Given the description of an element on the screen output the (x, y) to click on. 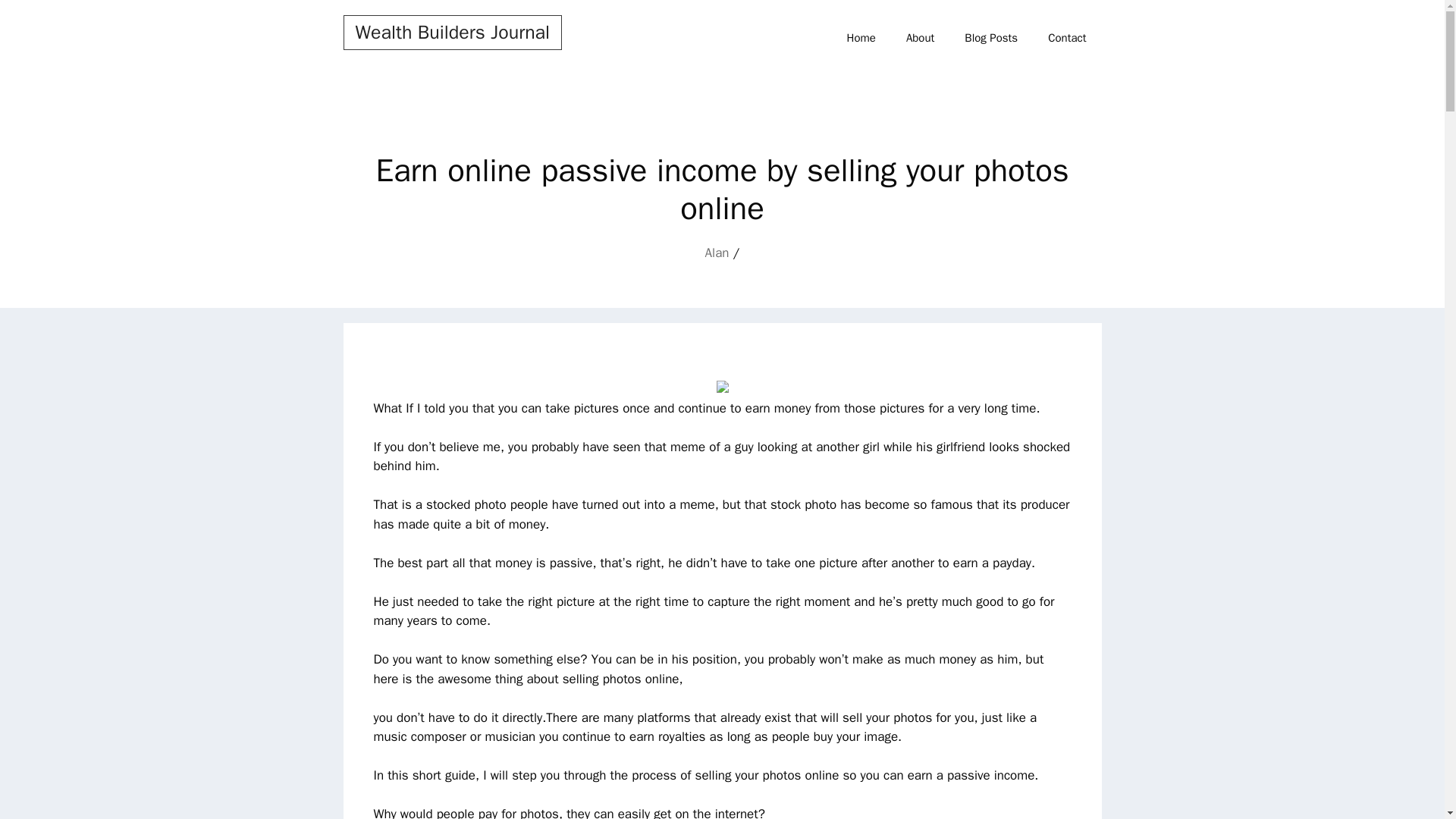
Blog Posts (990, 37)
Home (861, 37)
About (920, 37)
Contact (1066, 37)
Alan (716, 252)
View all posts by Alan (716, 252)
Wealth Builders Journal (452, 32)
